Given the description of an element on the screen output the (x, y) to click on. 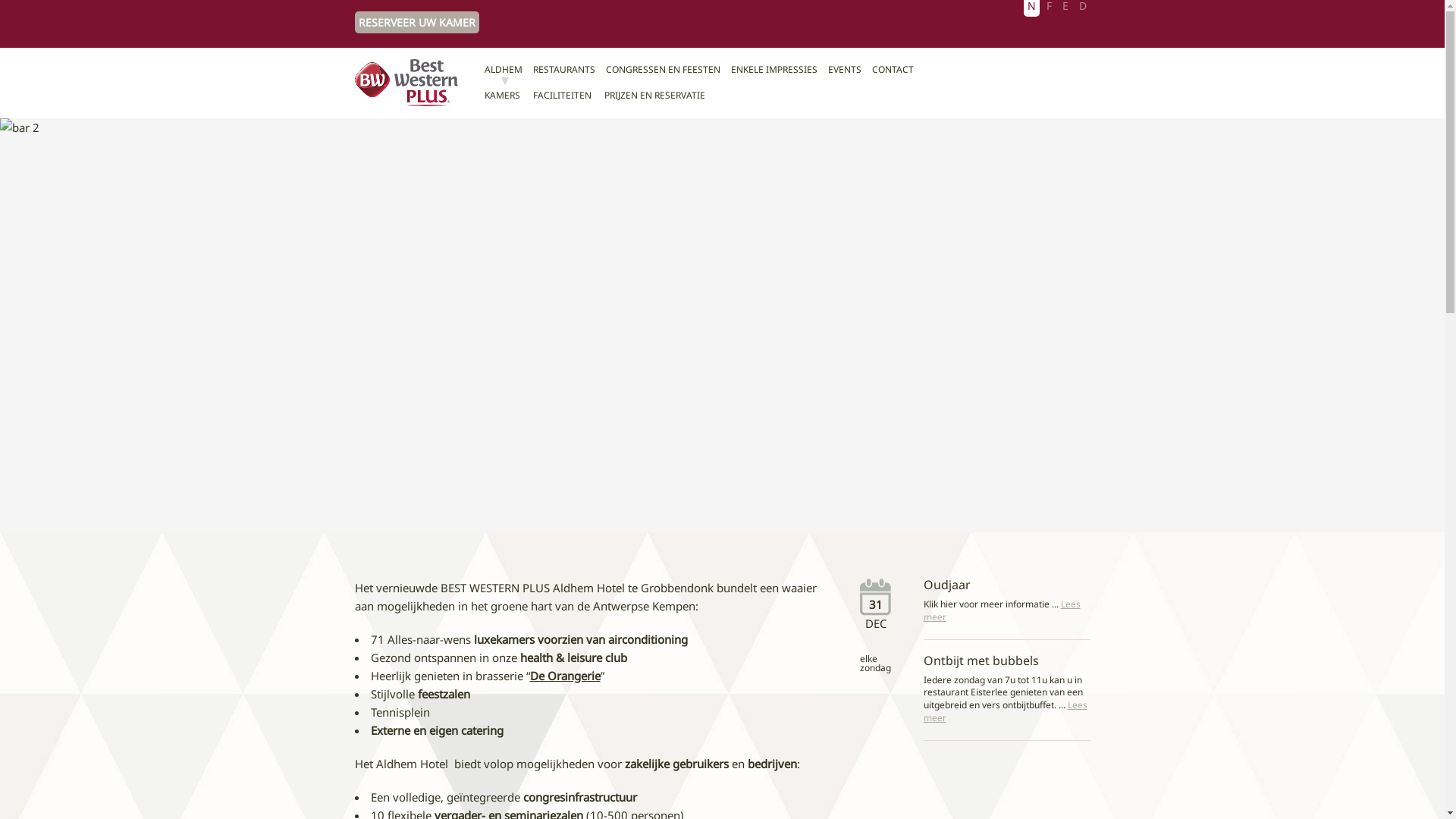
ALDHEM Element type: text (503, 68)
CONGRESSEN EN FEESTEN Element type: text (662, 68)
PRIJZEN EN RESERVATIE Element type: text (654, 94)
FACILITEITEN Element type: text (562, 94)
ENKELE IMPRESSIES Element type: text (774, 68)
EVENTS Element type: text (844, 68)
CONTACT Element type: text (892, 68)
RESTAURANTS Element type: text (564, 68)
Lees meer Element type: text (1005, 711)
KAMERS Element type: text (502, 94)
RESERVEER UW KAMER Element type: text (416, 22)
Lees meer Element type: text (1001, 610)
De Orangerie Element type: text (564, 675)
